Given the description of an element on the screen output the (x, y) to click on. 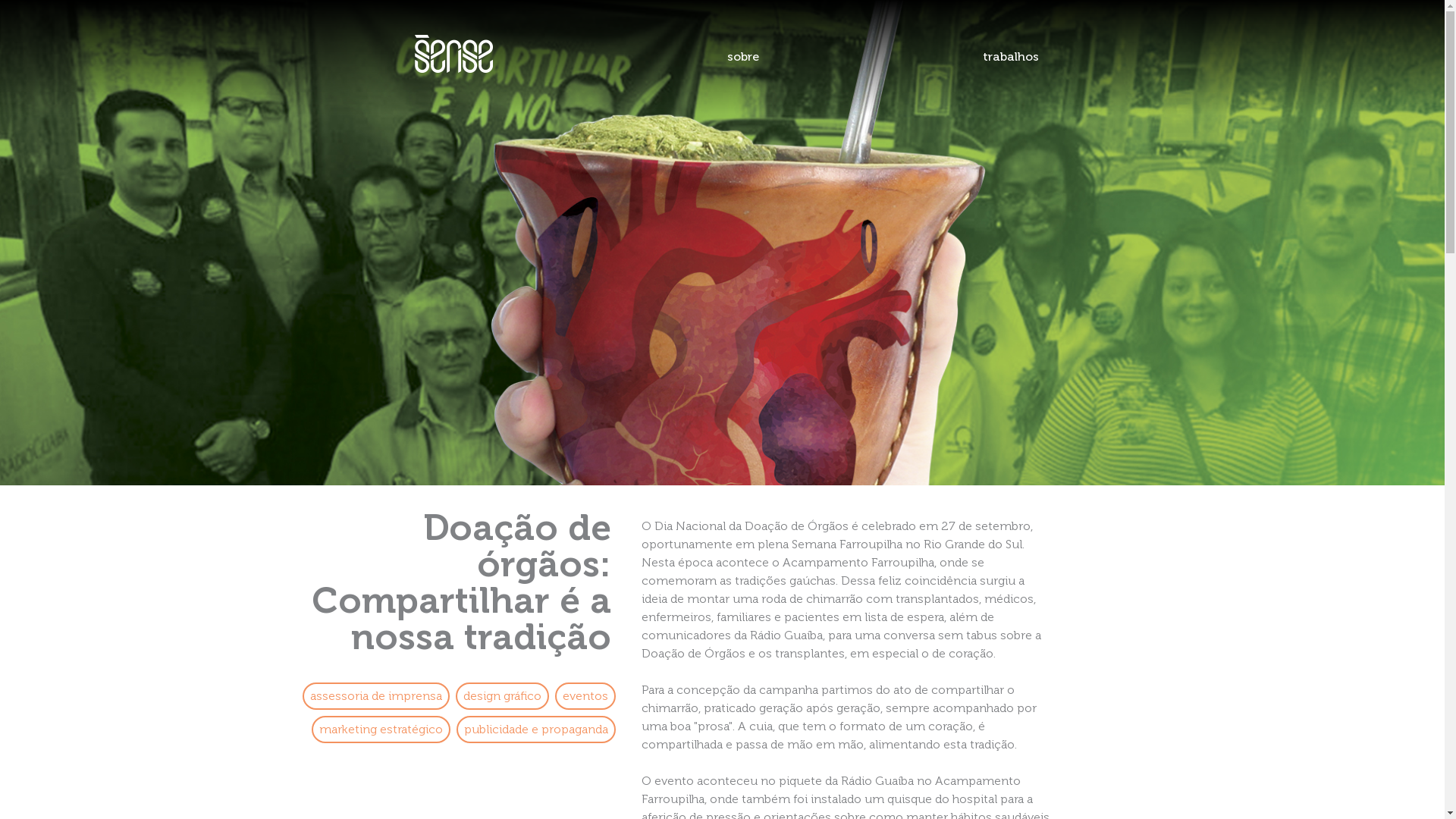
sobre Element type: text (743, 56)
trabalhos Element type: text (1010, 56)
